Given the description of an element on the screen output the (x, y) to click on. 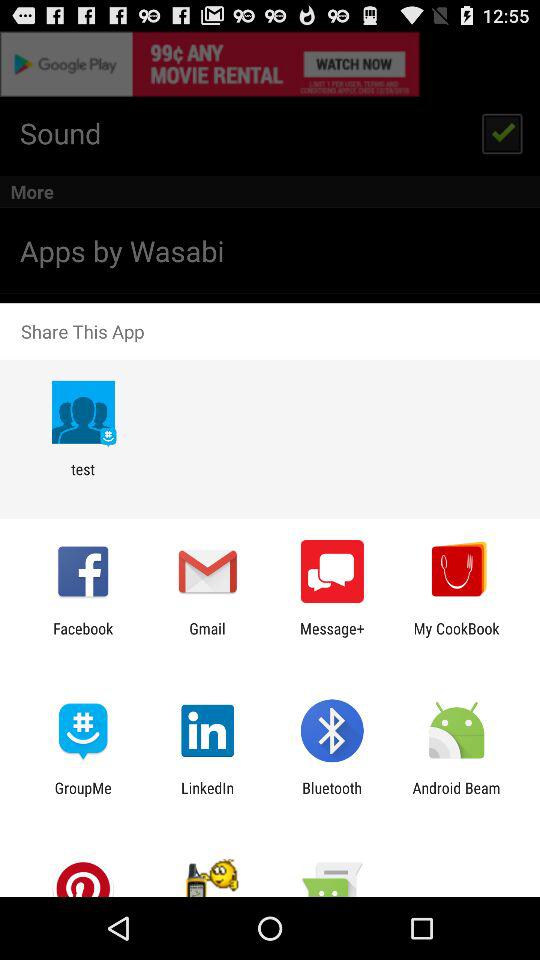
choose the app to the right of the linkedin icon (331, 796)
